Given the description of an element on the screen output the (x, y) to click on. 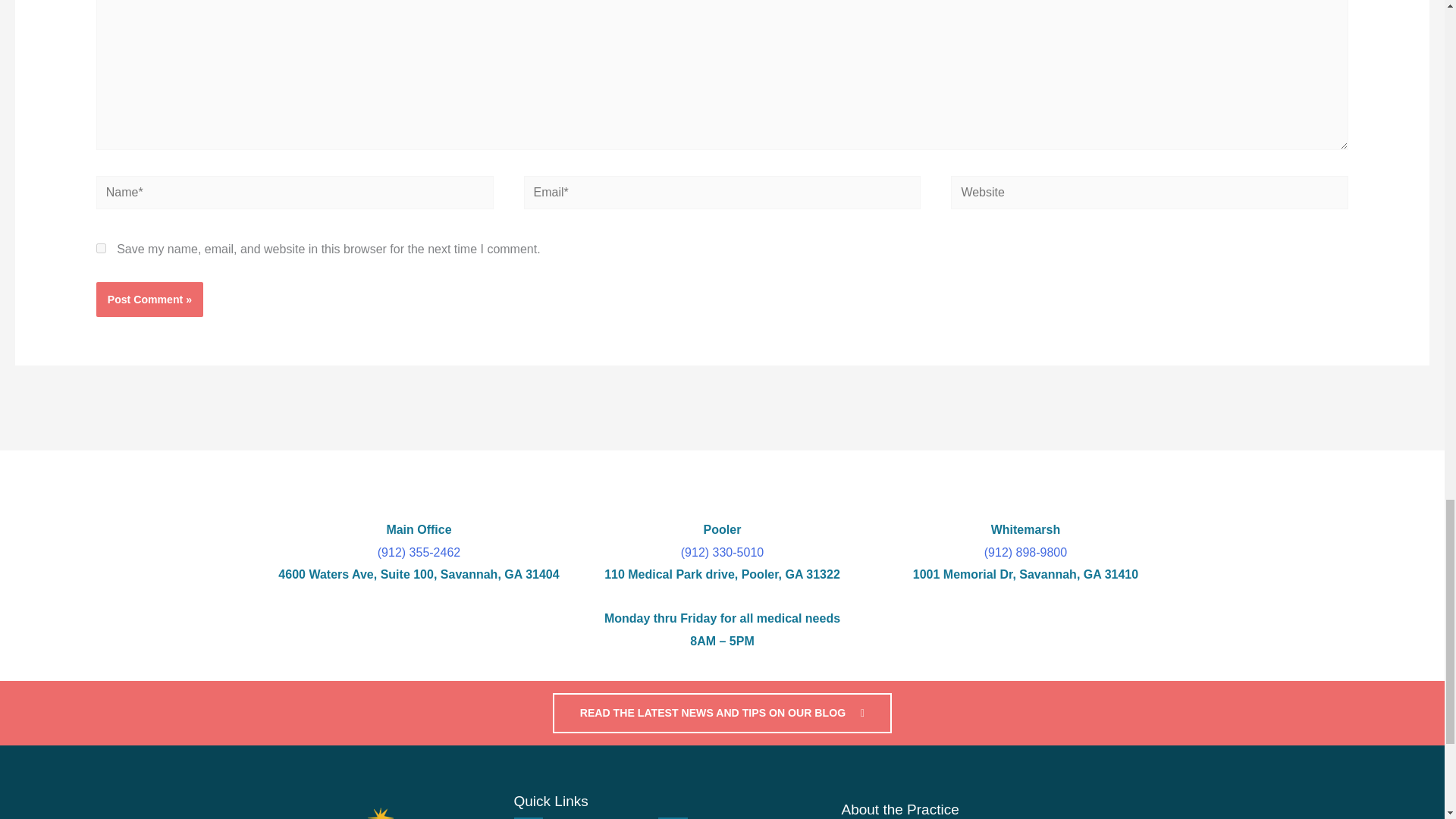
yes (101, 248)
